Given the description of an element on the screen output the (x, y) to click on. 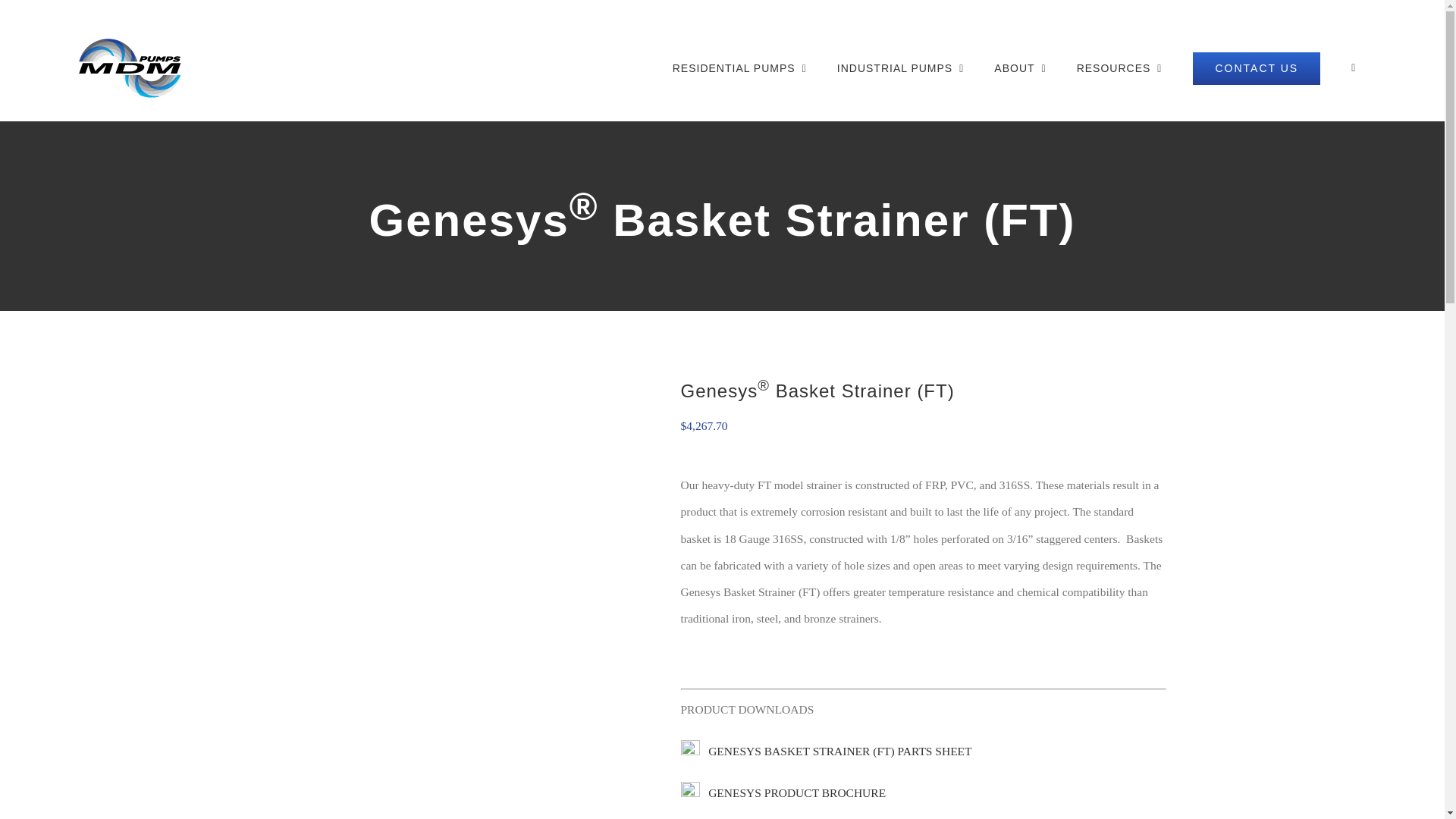
CONTACT US (1256, 68)
INDUSTRIAL PUMPS (900, 68)
RESIDENTIAL PUMPS (739, 68)
   GENESYS PRODUCT BROCHURE (783, 792)
